Given the description of an element on the screen output the (x, y) to click on. 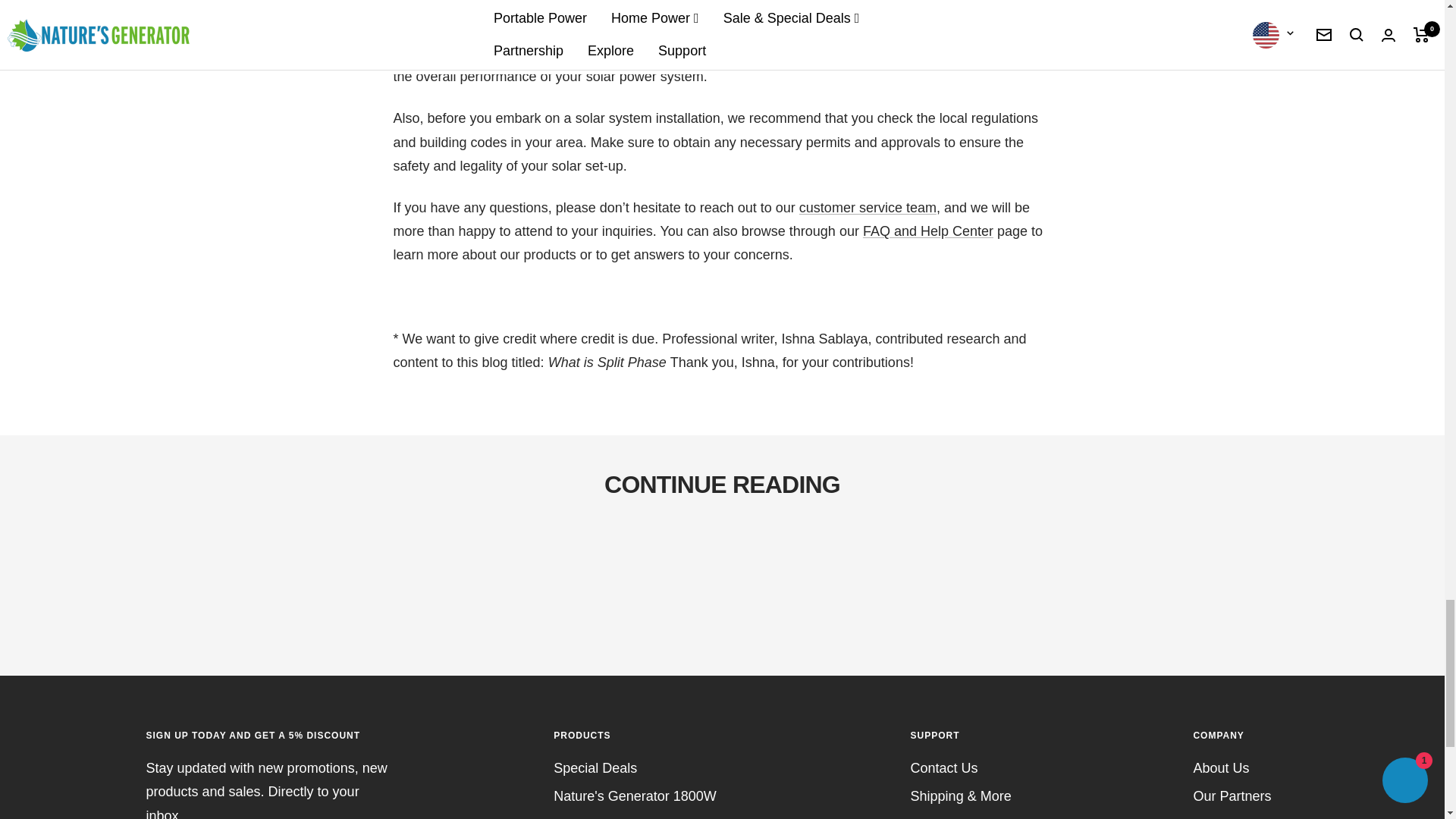
Help Center (927, 231)
Contact Us (867, 207)
